Given the description of an element on the screen output the (x, y) to click on. 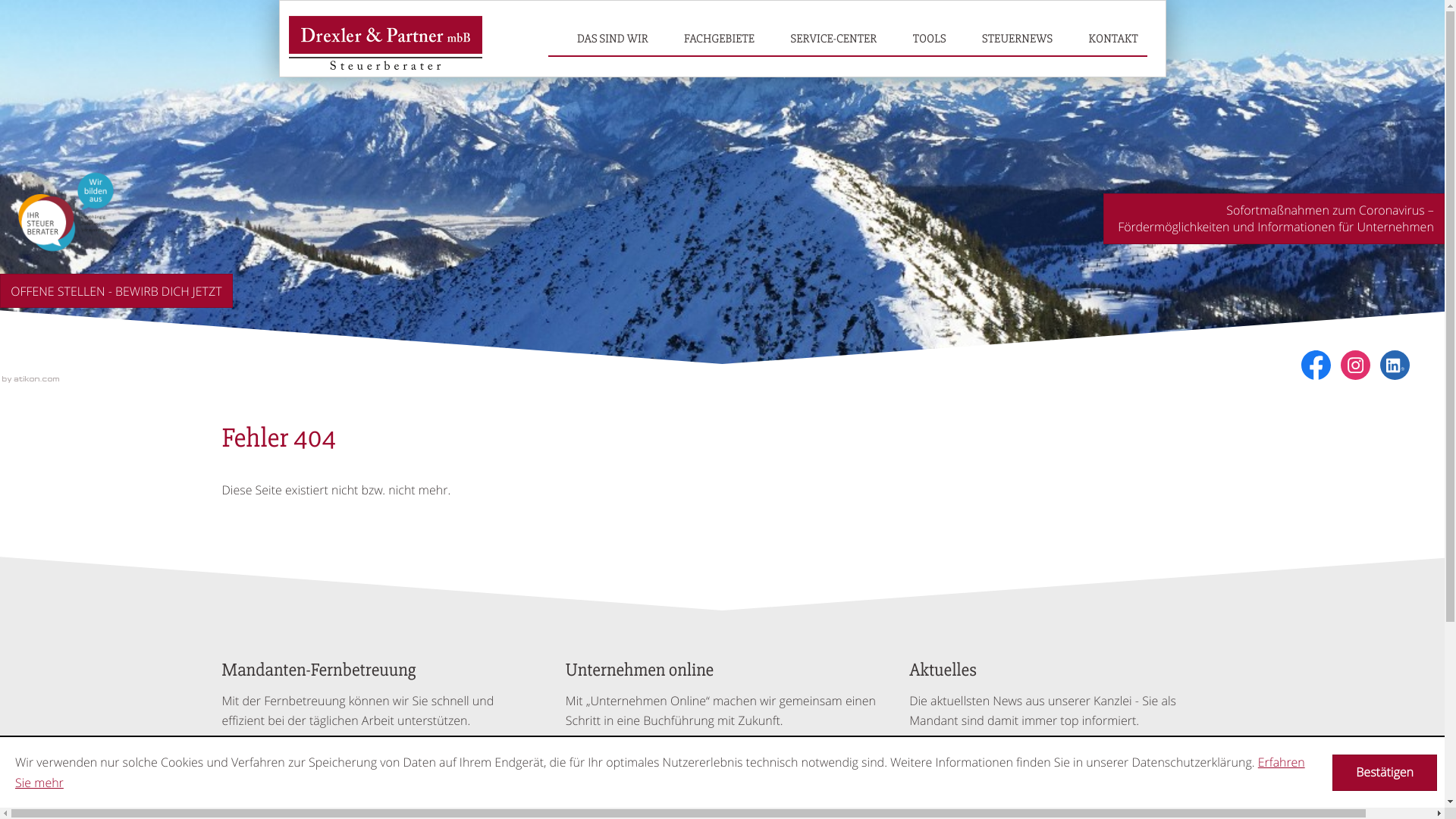
DAS SIND WIR Element type: text (611, 38)
STEUERNEWS Element type: text (1016, 38)
FACHGEBIETE Element type: text (718, 38)
OFFENE STELLEN - BEWIRB DICH JETZT Element type: text (116, 290)
zur Startseite Element type: hover (384, 45)
Steuernews Element type: text (961, 758)
KONTAKT Element type: text (1113, 38)
Unternehmen online Element type: text (643, 758)
Kanzleimarketing (Neues Fenster) Element type: hover (30, 378)
social_media_instagram_become_fan Element type: hover (1355, 364)
Zur Fernbetreuung Element type: text (293, 758)
social_media_linkedin_become_fan Element type: hover (1394, 364)
SERVICE-CENTER Element type: text (833, 38)
Erfahren Sie mehr Element type: text (660, 771)
TOOLS Element type: text (928, 38)
Werden Sie Fan auf Facebook! Element type: hover (1315, 364)
